Given the description of an element on the screen output the (x, y) to click on. 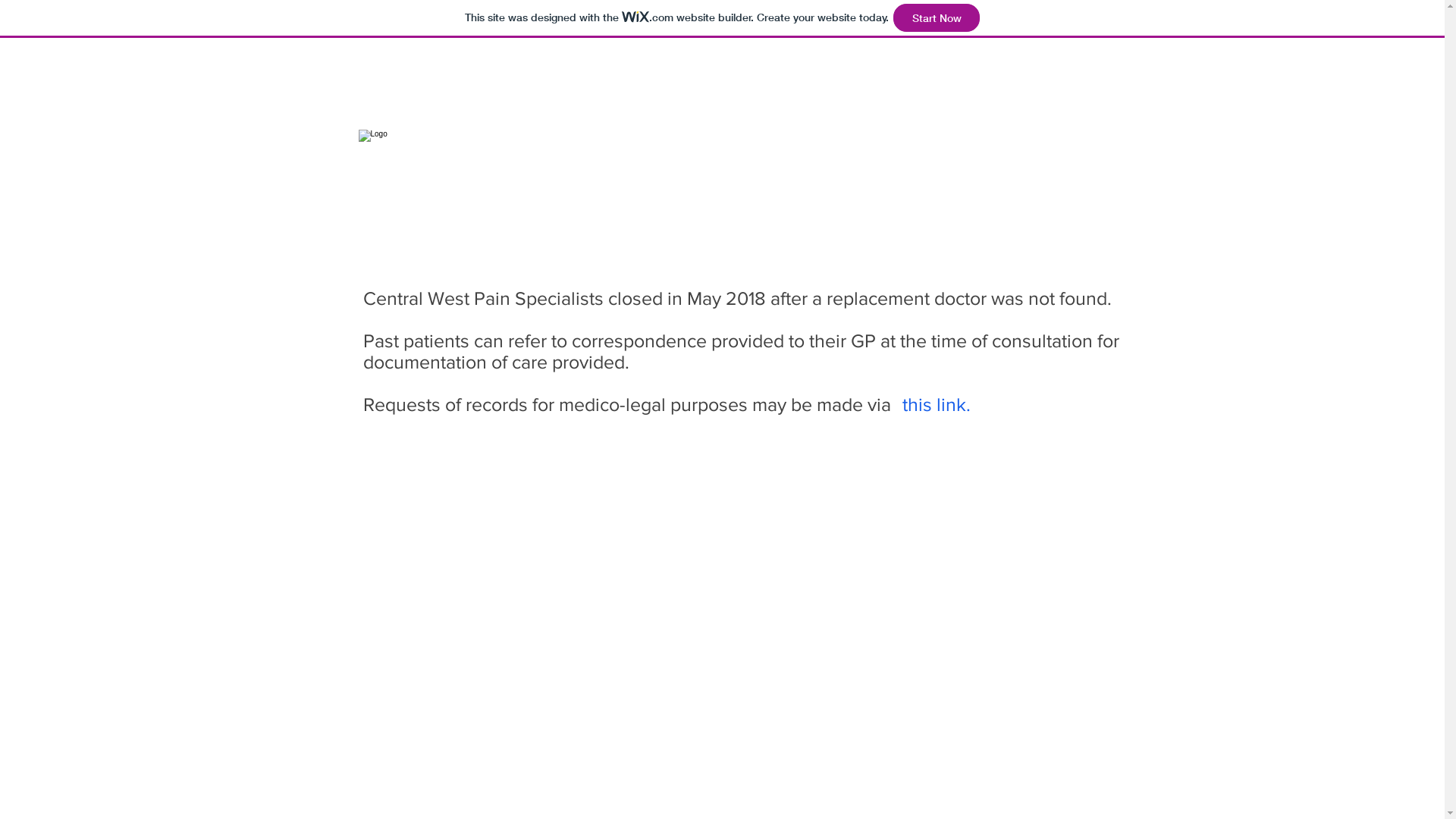
this link. Element type: text (936, 403)
